Given the description of an element on the screen output the (x, y) to click on. 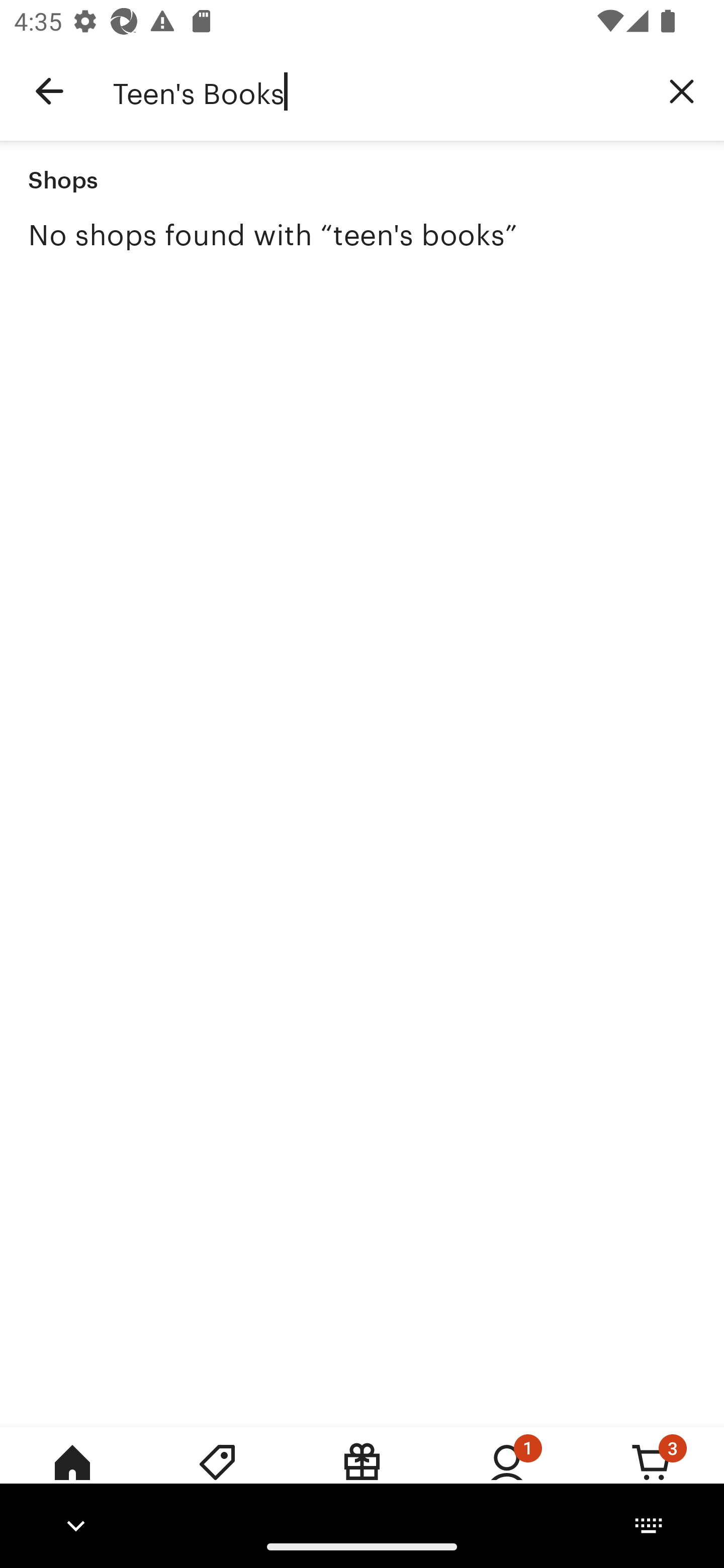
Navigate up (49, 91)
Clear query (681, 90)
Teen's Books (375, 91)
Deals (216, 1475)
Gift Mode (361, 1475)
You, 1 new notification (506, 1475)
Cart, 3 new notifications (651, 1475)
